Given the description of an element on the screen output the (x, y) to click on. 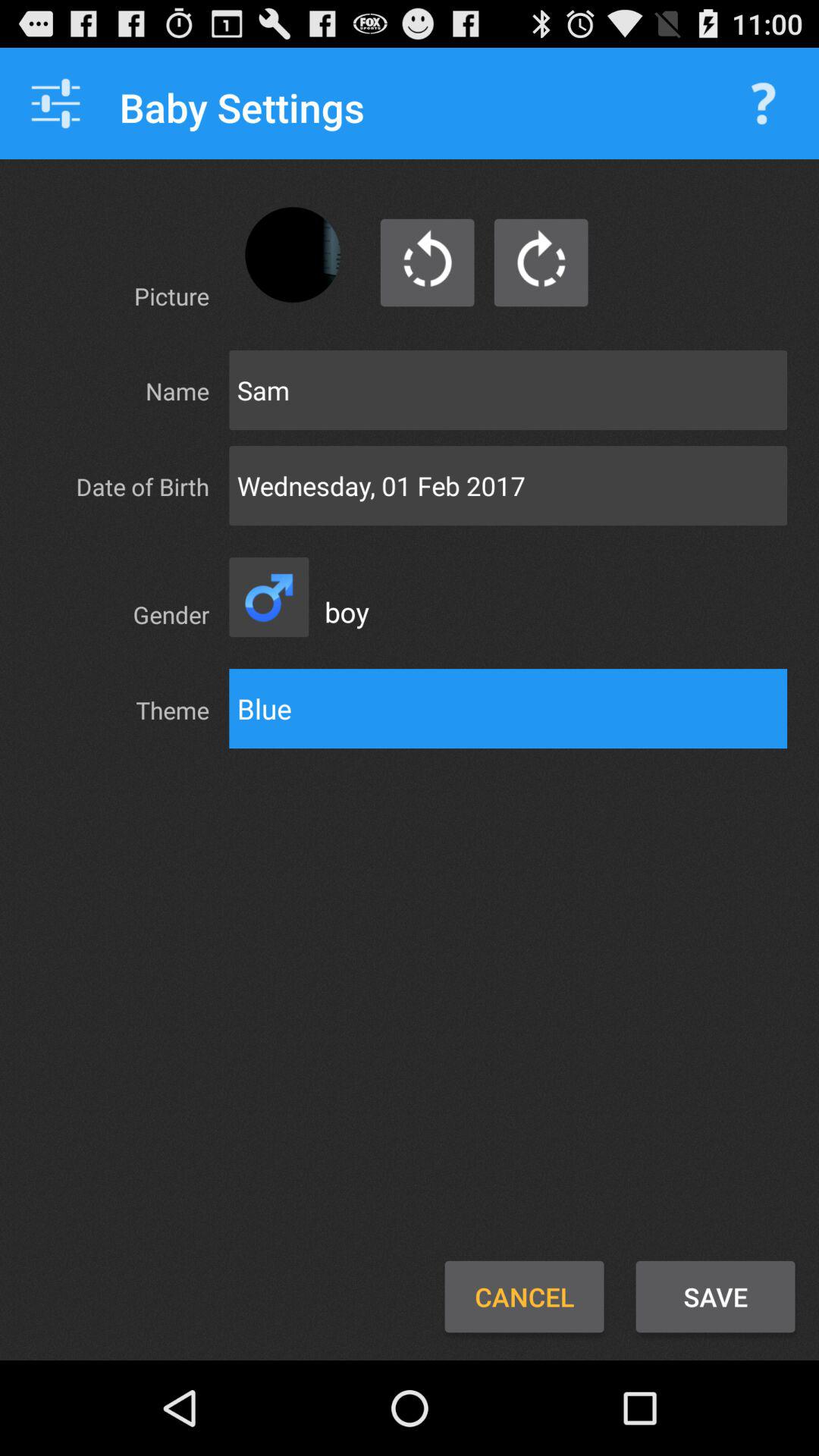
need help (763, 103)
